Given the description of an element on the screen output the (x, y) to click on. 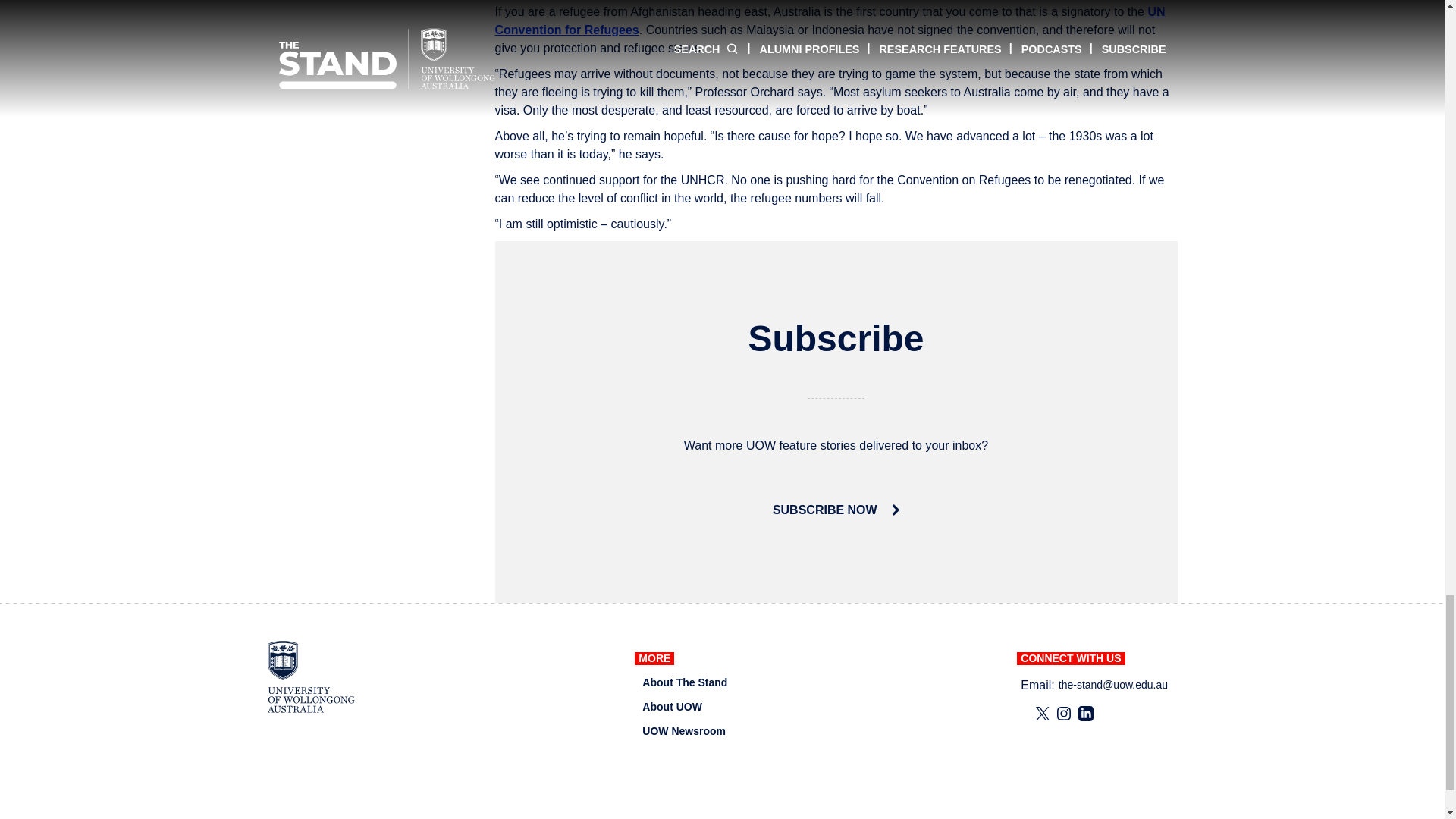
LinkedIn (1085, 713)
X - formerly known as twitter (1042, 713)
Instagram (1063, 713)
About UOW (671, 707)
UOW Newsroom (683, 730)
About The Stand (684, 682)
SUBSCRIBE NOW (835, 509)
UN Convention for Refugees (829, 20)
